Given the description of an element on the screen output the (x, y) to click on. 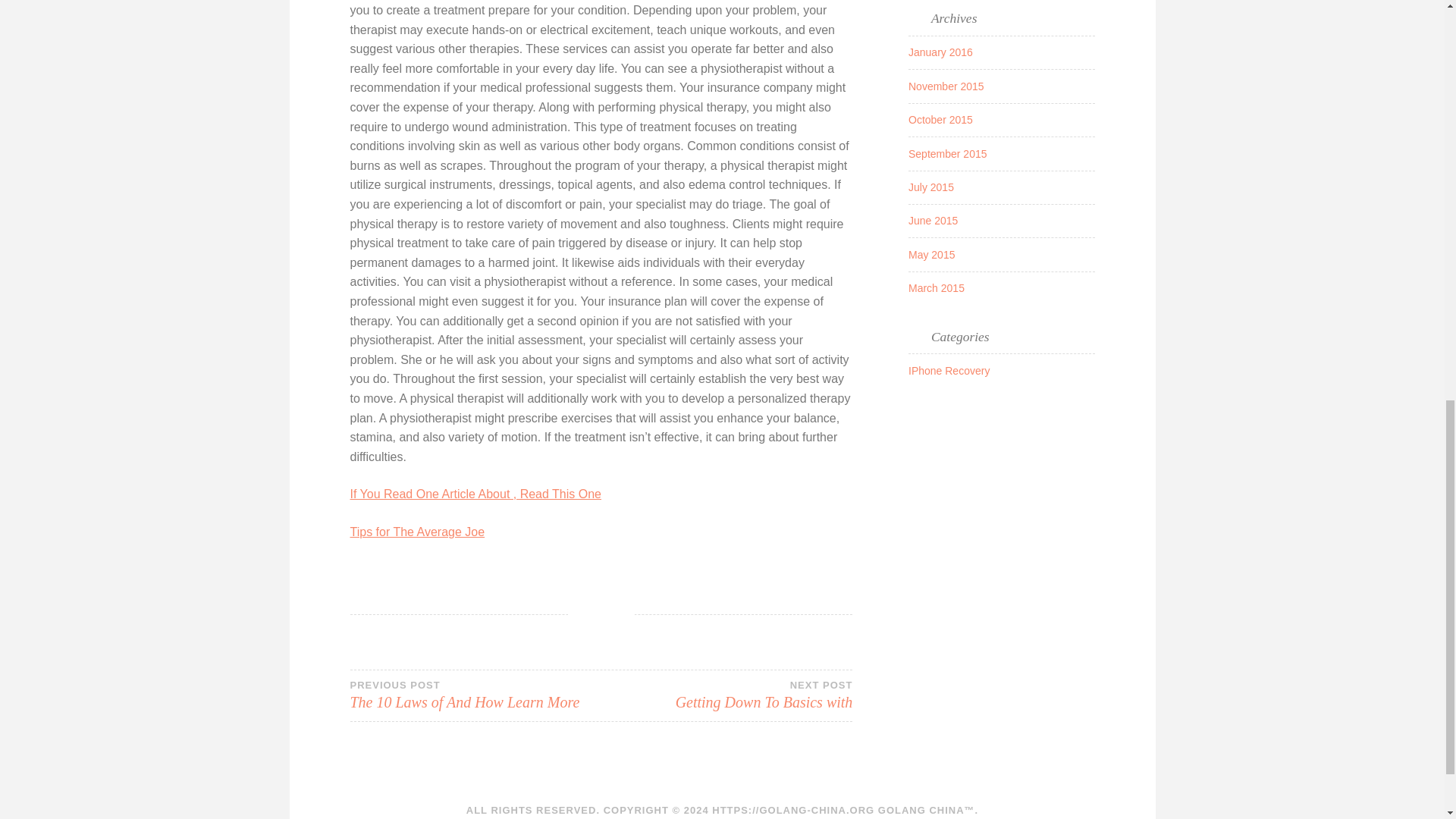
IPhone Recovery (475, 694)
July 2015 (949, 370)
October 2015 (930, 186)
Tips for The Average Joe (940, 119)
January 2016 (726, 694)
June 2015 (417, 531)
September 2015 (940, 51)
May 2015 (933, 220)
